Given the description of an element on the screen output the (x, y) to click on. 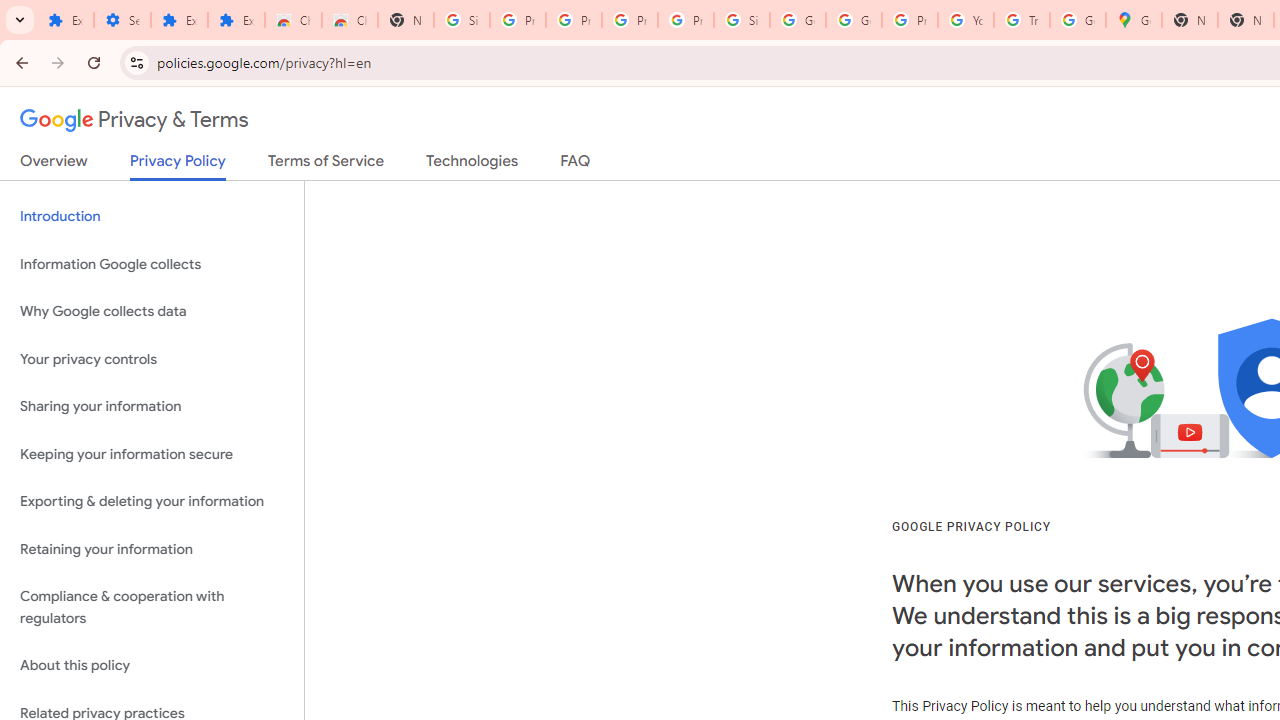
Extensions (65, 20)
New Tab (1190, 20)
Compliance & cooperation with regulators (152, 607)
Retaining your information (152, 548)
YouTube (966, 20)
Keeping your information secure (152, 453)
About this policy (152, 666)
Chrome Web Store (293, 20)
